Given the description of an element on the screen output the (x, y) to click on. 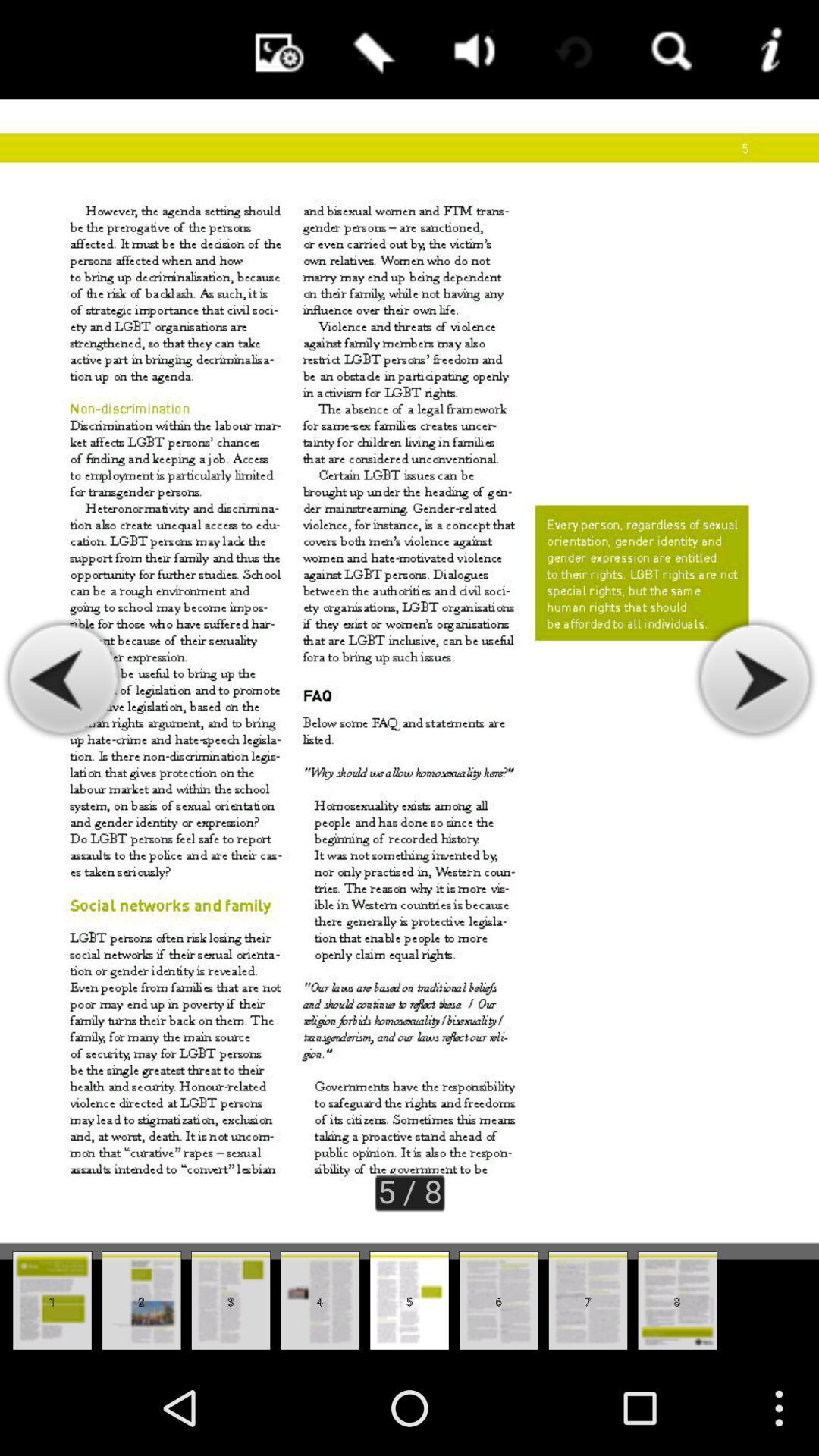
information (769, 49)
